Given the description of an element on the screen output the (x, y) to click on. 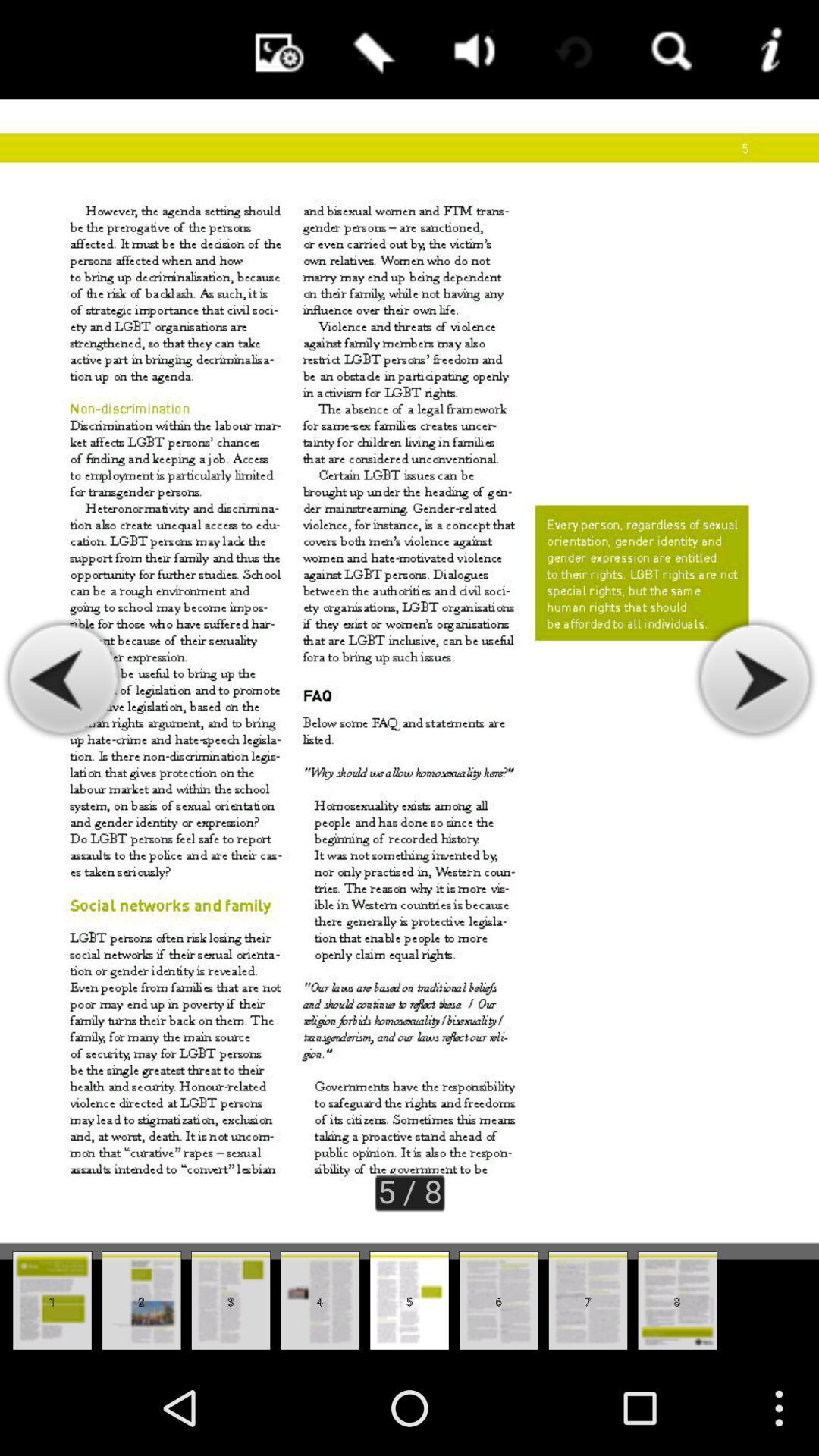
information (769, 49)
